Given the description of an element on the screen output the (x, y) to click on. 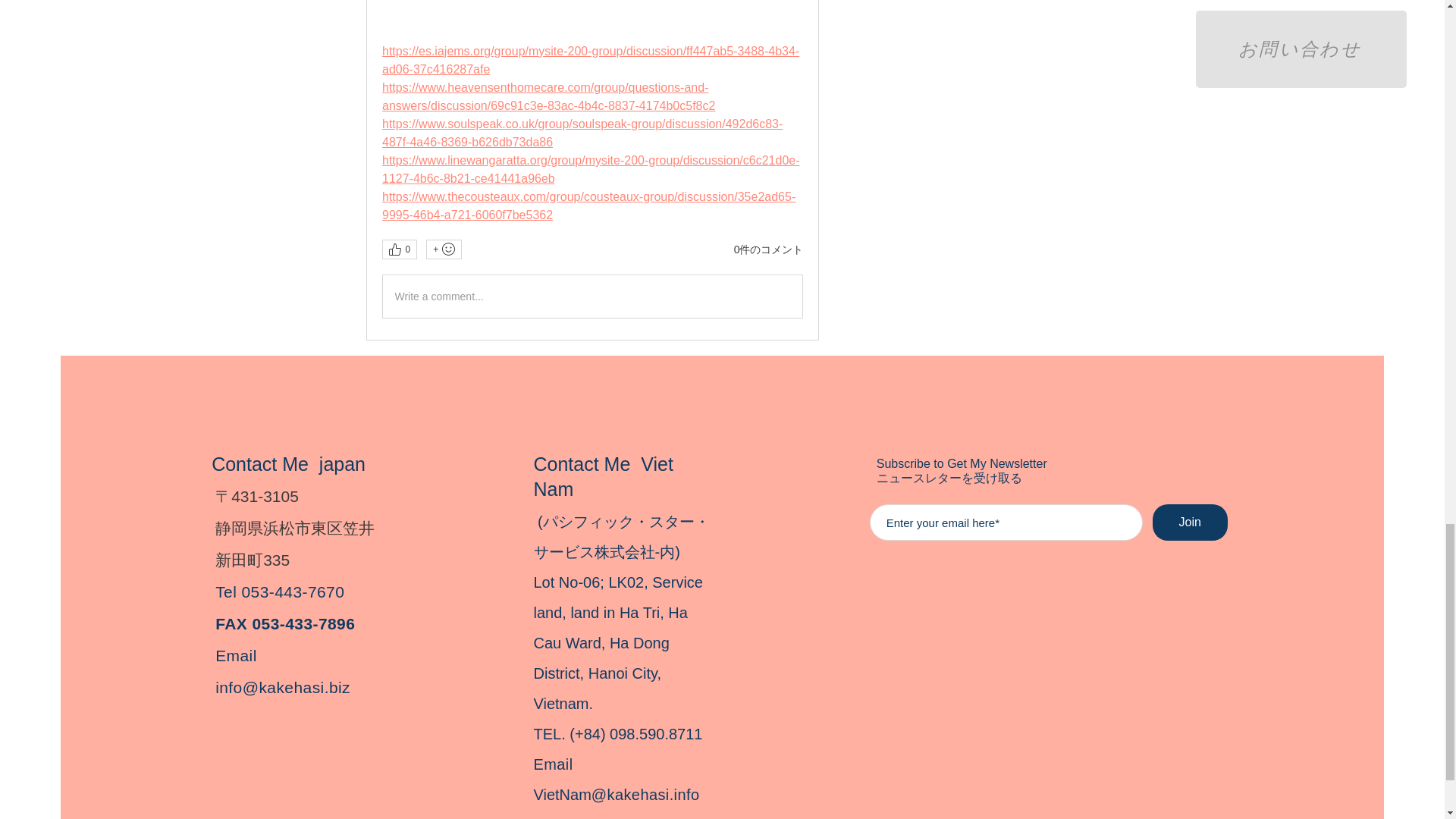
Join (1190, 522)
Write a comment... (591, 296)
